Given the description of an element on the screen output the (x, y) to click on. 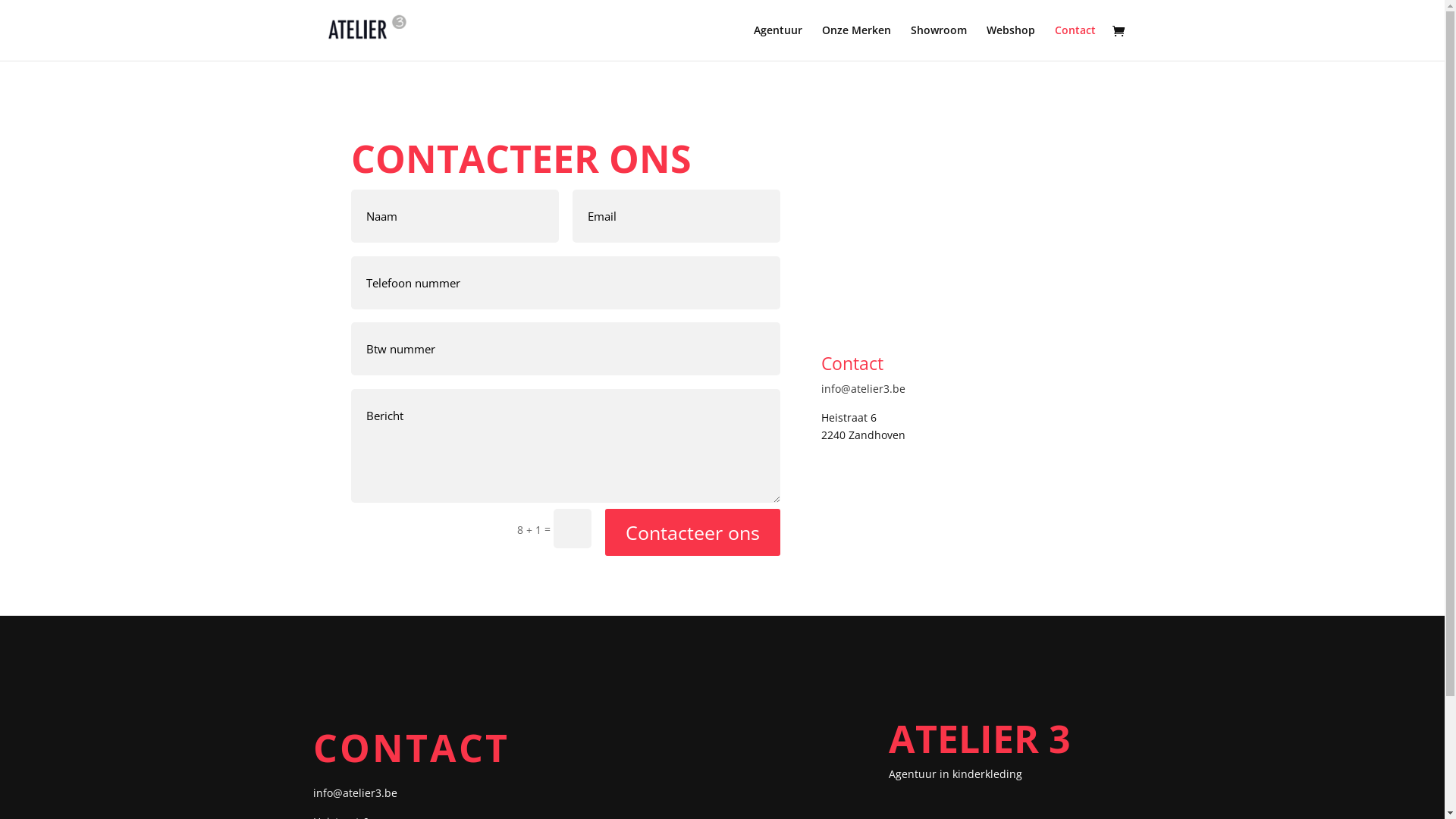
Contacteer ons Element type: text (692, 531)
info@atelier3.be Element type: text (863, 388)
Contact Element type: text (1074, 42)
Onze Merken Element type: text (856, 42)
Webshop Element type: text (1009, 42)
info@atelier3.be Element type: text (354, 792)
Showroom Element type: text (938, 42)
Agentuur Element type: text (777, 42)
